Given the description of an element on the screen output the (x, y) to click on. 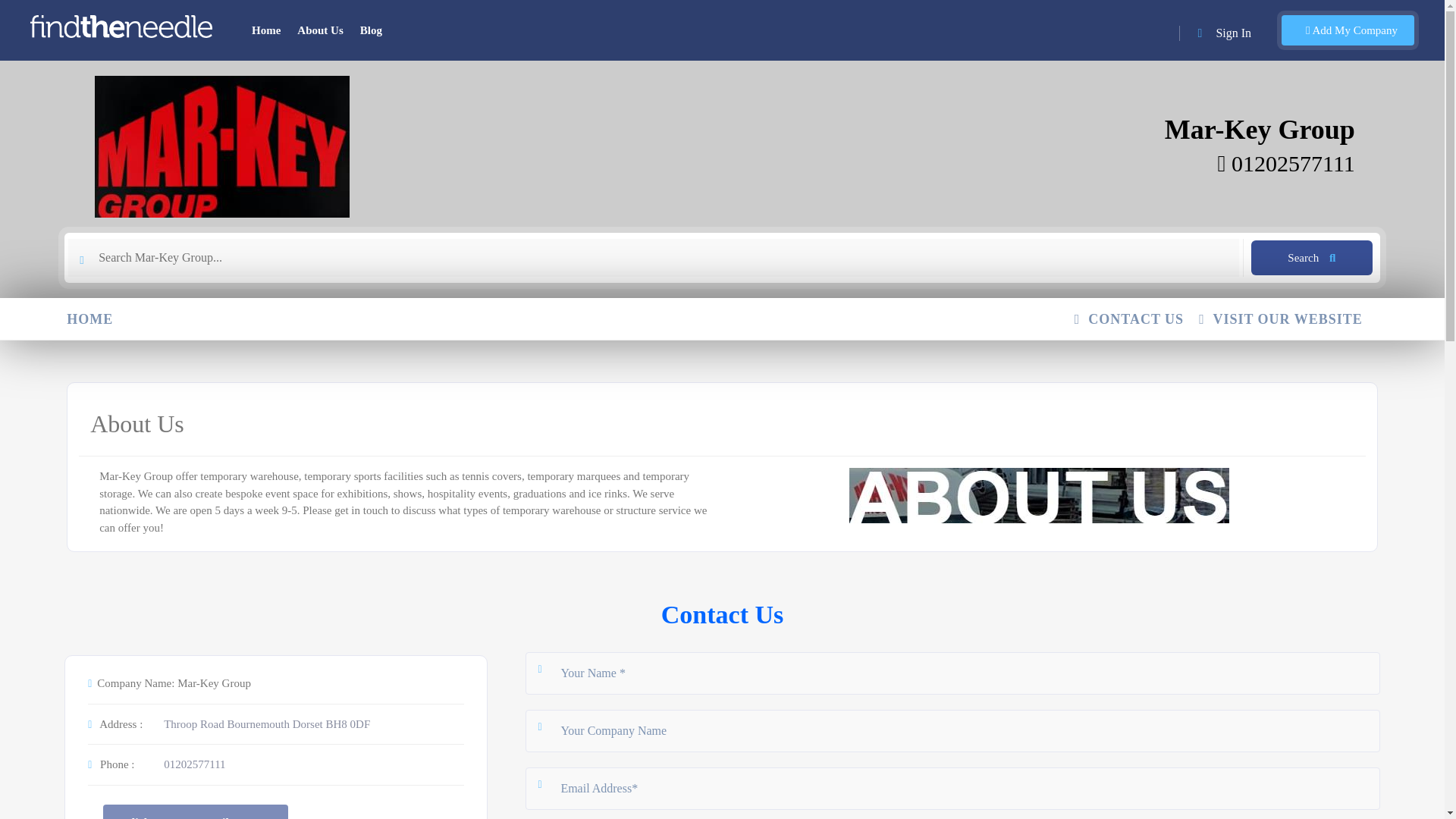
Contact Us (721, 614)
Home (266, 30)
Search (1311, 257)
  CONTACT US (1136, 319)
Blog (371, 30)
Add My Company (1347, 30)
01202577111 (1286, 163)
  VISIT OUR WEBSITE (1287, 319)
Throop Road Bournemouth Dorset BH8 0DF (266, 724)
Mar-Key Group (1259, 129)
Throop Road Bournemouth Dorset BH8 0DF (266, 724)
01202577111 (194, 764)
HOME (97, 319)
About Us (319, 30)
